Given the description of an element on the screen output the (x, y) to click on. 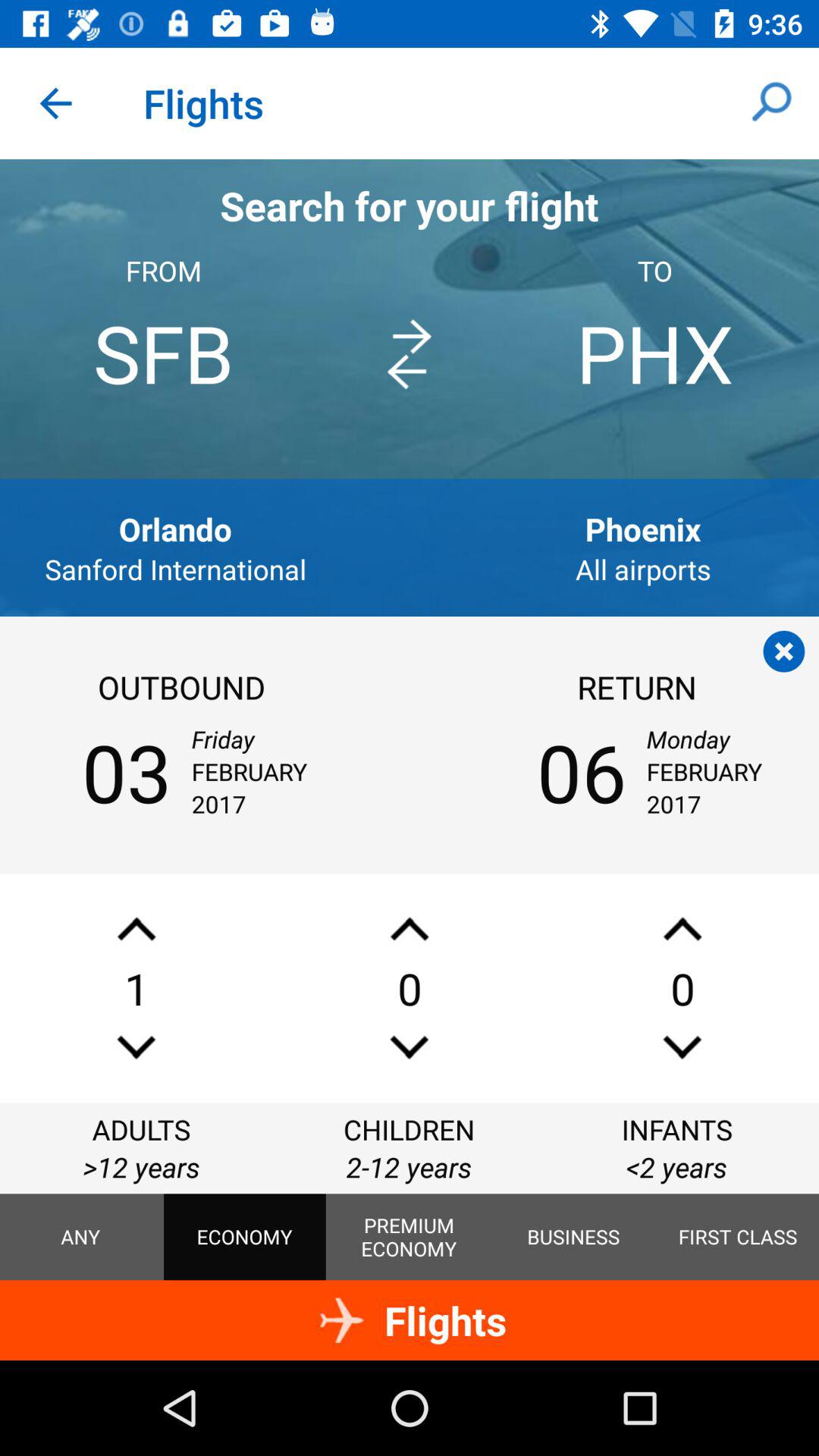
click the app next to the flights (771, 103)
